Given the description of an element on the screen output the (x, y) to click on. 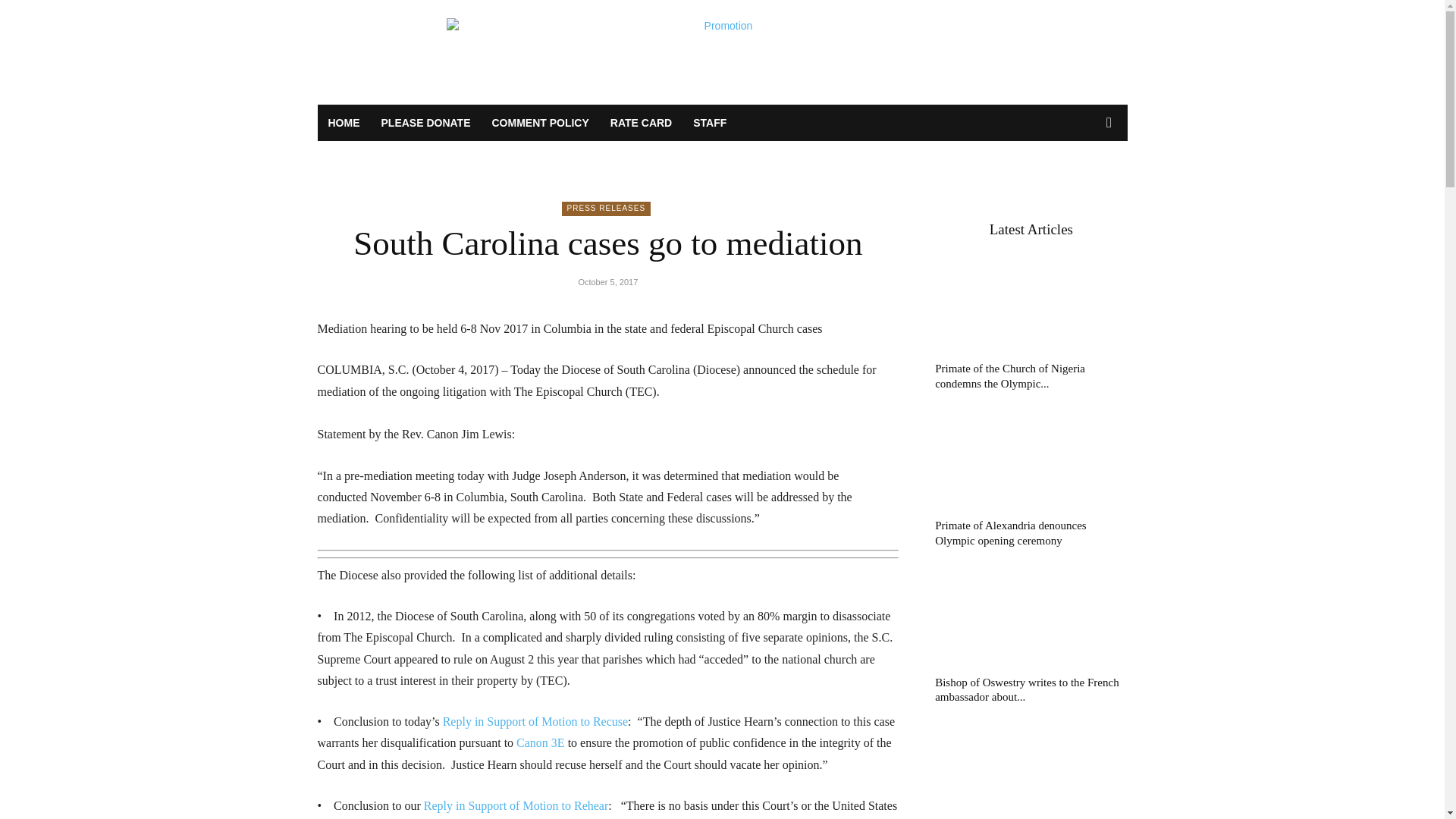
Primate of Alexandria denounces Olympic opening ceremony (1030, 460)
COMMENT POLICY (539, 122)
Primate of Alexandria denounces Olympic opening ceremony (1010, 533)
STAFF (709, 122)
HOME (343, 122)
PLEASE DONATE (424, 122)
Search (1085, 183)
PRESS RELEASES (606, 208)
Reply in Support of Motion to Rehear (515, 805)
Reply in Support of Motion to Recuse (534, 721)
RATE CARD (640, 122)
